Given the description of an element on the screen output the (x, y) to click on. 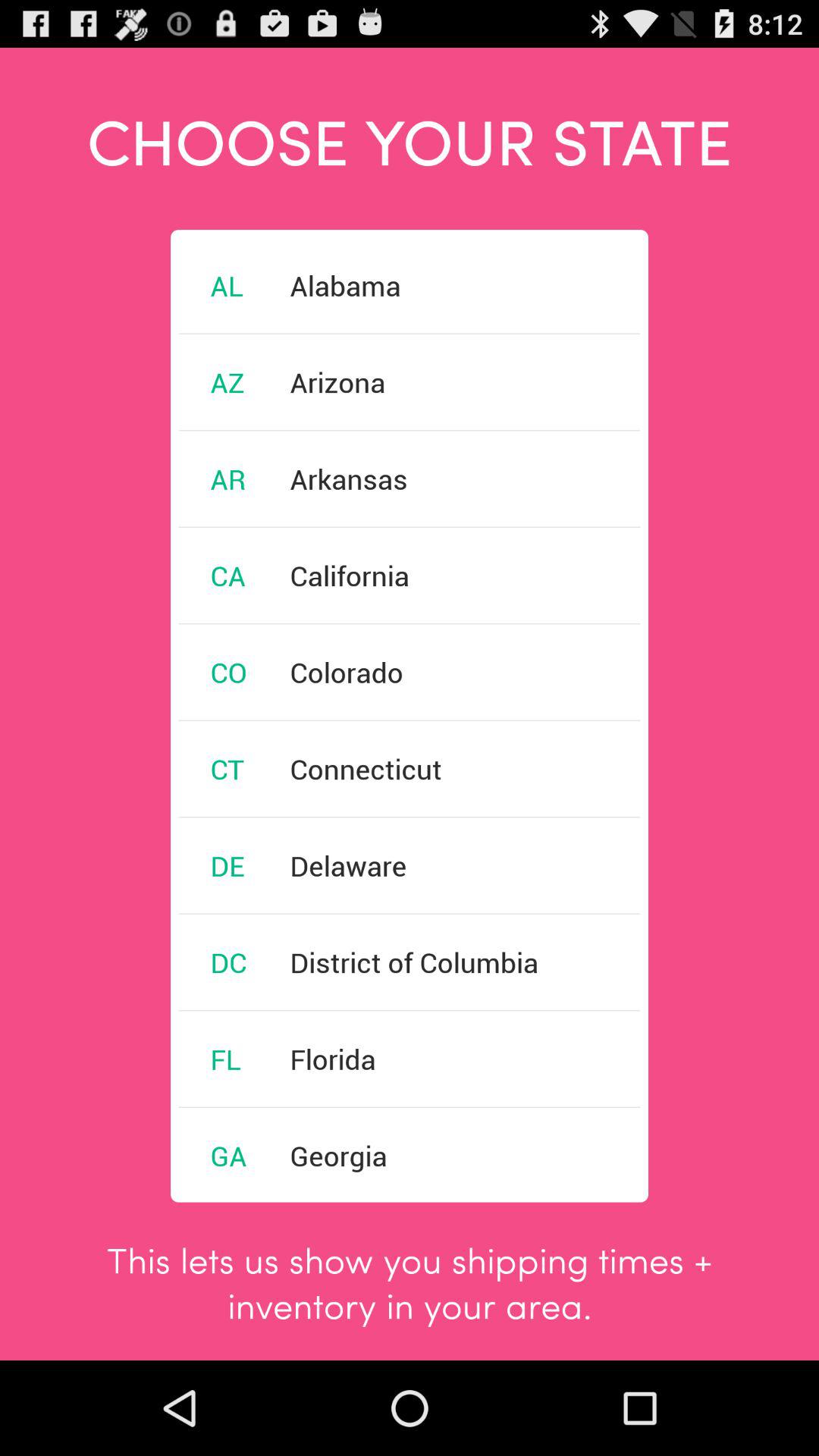
select icon next to the california item (227, 575)
